Given the description of an element on the screen output the (x, y) to click on. 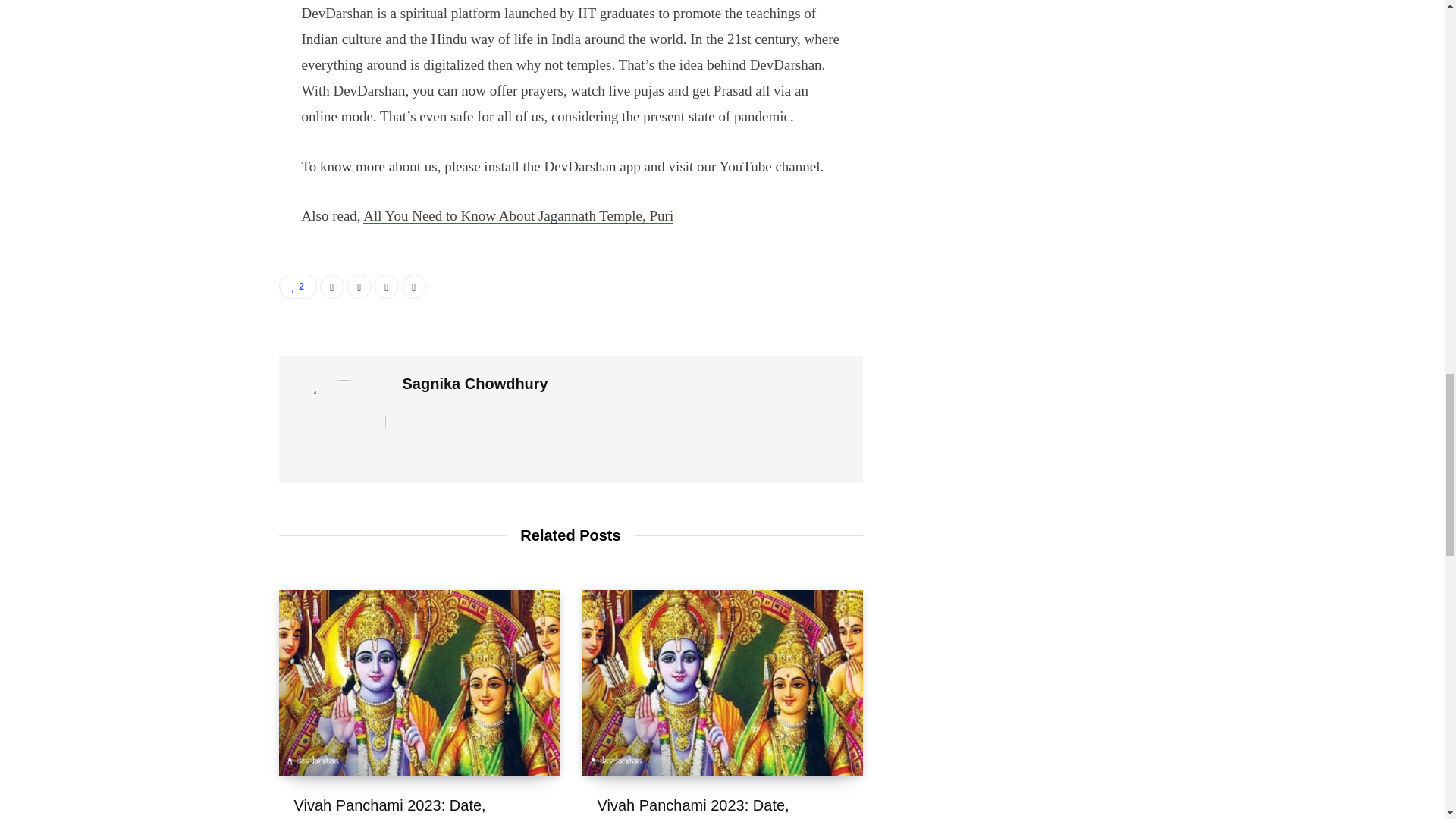
DevDarshan app (592, 166)
All You Need to Know About Jagannath Temple, Puri (517, 215)
2 (298, 286)
Vivah Panchami 2023: Date, Significance and Puja Rituals (392, 807)
Sagnika Chowdhury (474, 383)
Vivah Panchami 2023: Date, Significance and Puja Rituals (694, 807)
YouTube channel (769, 166)
